Given the description of an element on the screen output the (x, y) to click on. 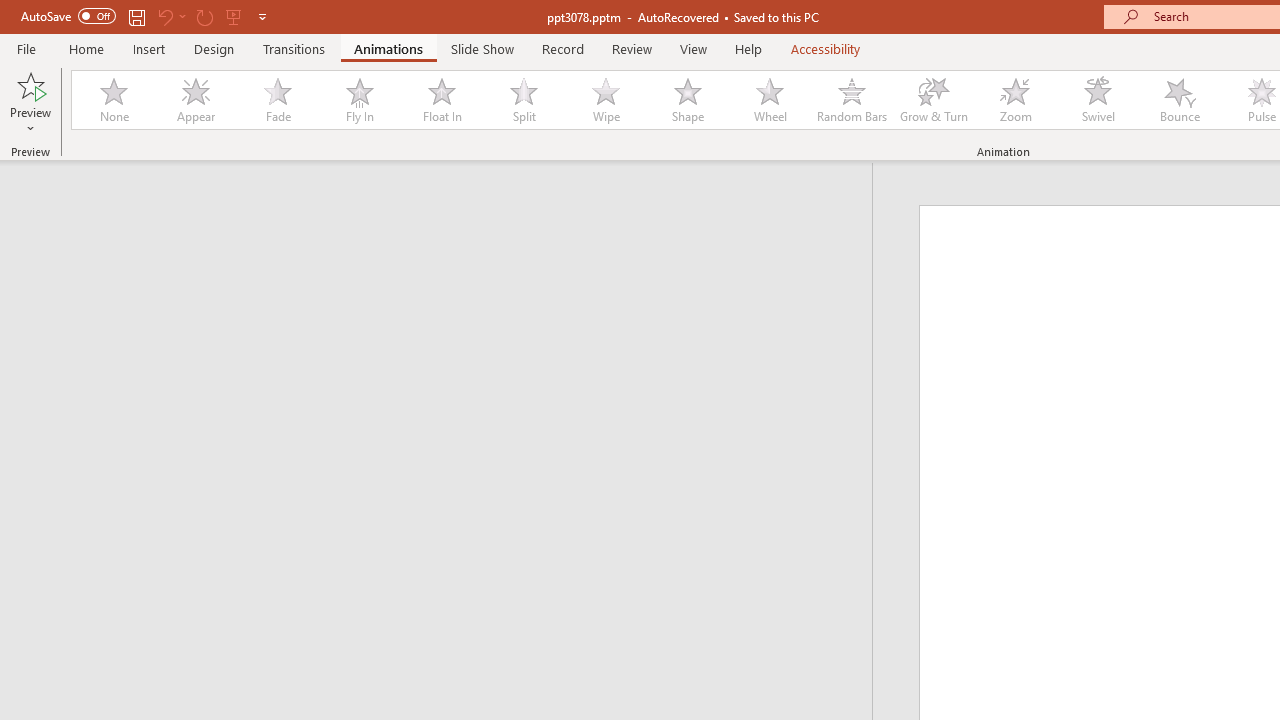
Customize Quick Access Toolbar (262, 15)
Split (523, 100)
Transitions (294, 48)
Home (86, 48)
Random Bars (852, 100)
Float In (441, 100)
Design (214, 48)
Insert (149, 48)
Undo (170, 15)
Record (562, 48)
Shape (687, 100)
Undo (164, 15)
Wheel (770, 100)
Redo (204, 15)
